Given the description of an element on the screen output the (x, y) to click on. 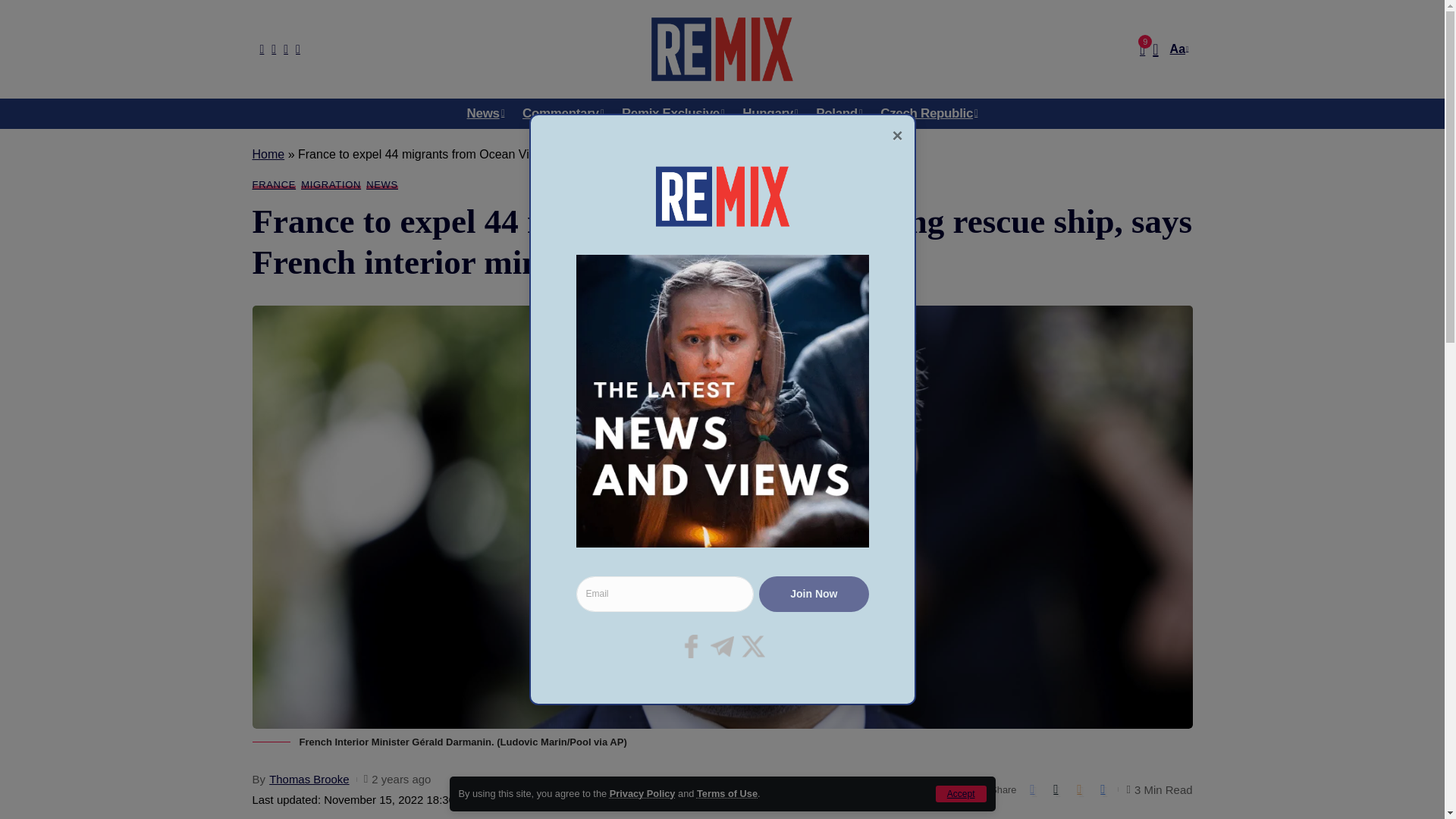
Accept (961, 793)
Privacy Policy (642, 793)
Remix News (721, 48)
Terms of Use (727, 793)
